Given the description of an element on the screen output the (x, y) to click on. 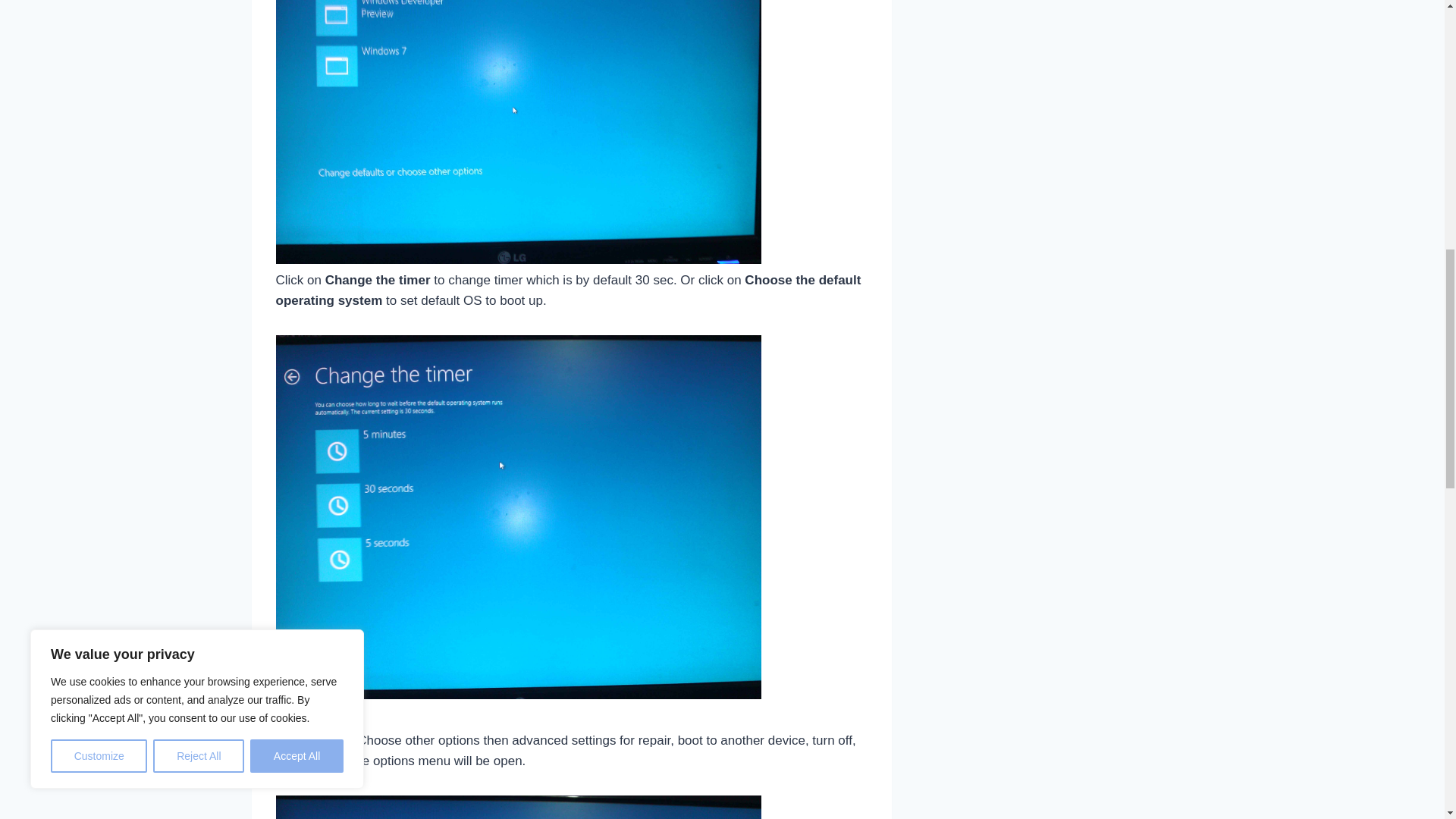
ASP.NET CORE Tutorial For Beginners 1 - Getting Started (1065, 2)
